Given the description of an element on the screen output the (x, y) to click on. 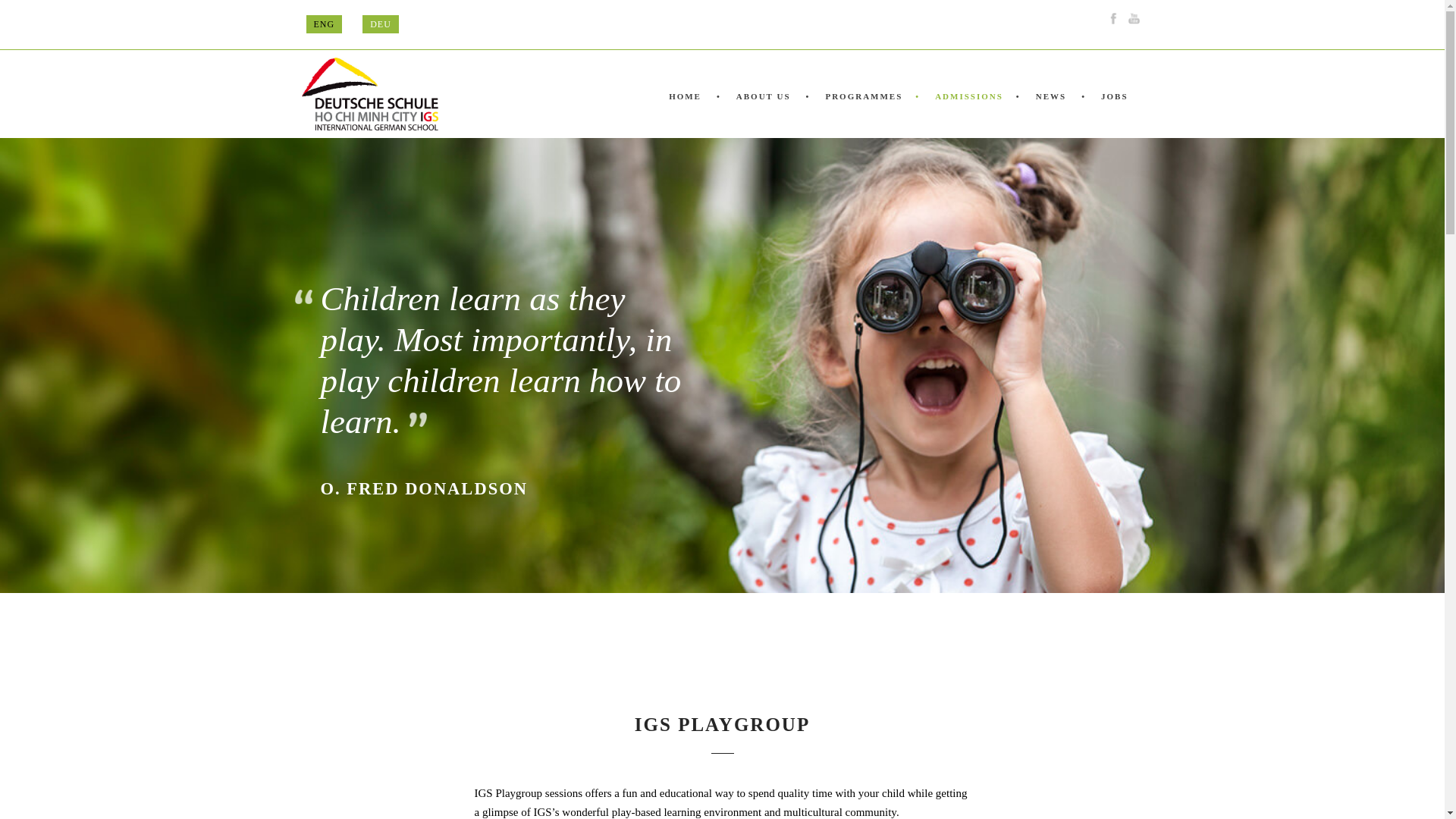
HOME (692, 112)
ADMISSIONS (965, 112)
ENG (323, 24)
Google Maps (691, 17)
ABOUT US (761, 112)
NEWS (1048, 112)
DEU (380, 24)
JOBS (1111, 112)
PROGRAMMES (860, 112)
